Given the description of an element on the screen output the (x, y) to click on. 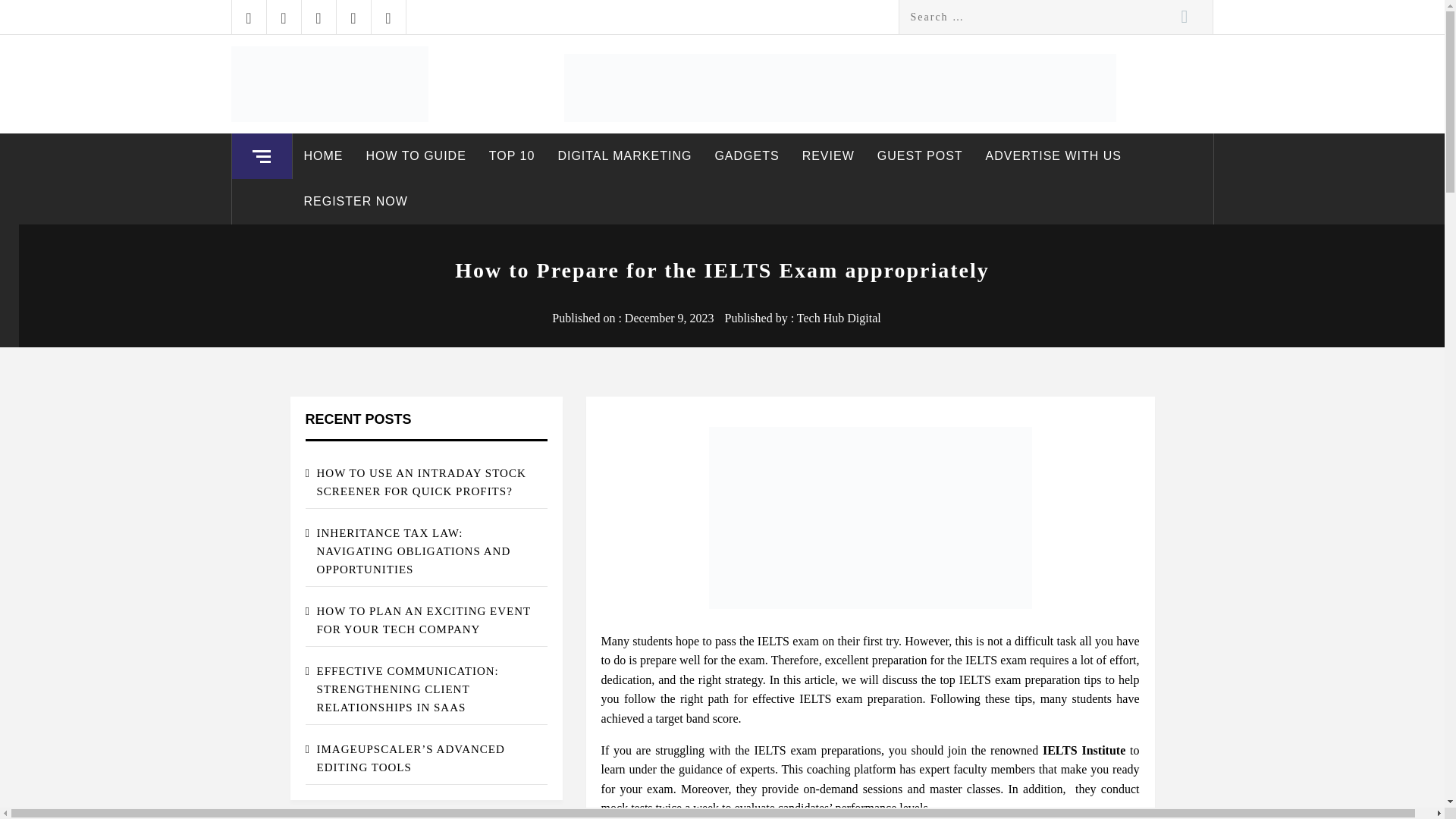
GADGETS (746, 156)
REVIEW (828, 156)
GUEST POST (920, 156)
ADVERTISE WITH US (1053, 156)
DIGITAL MARKETING (624, 156)
HOME (323, 156)
Search (1184, 17)
HOW TO USE AN INTRADAY STOCK SCREENER FOR QUICK PROFITS? (425, 482)
